Given the description of an element on the screen output the (x, y) to click on. 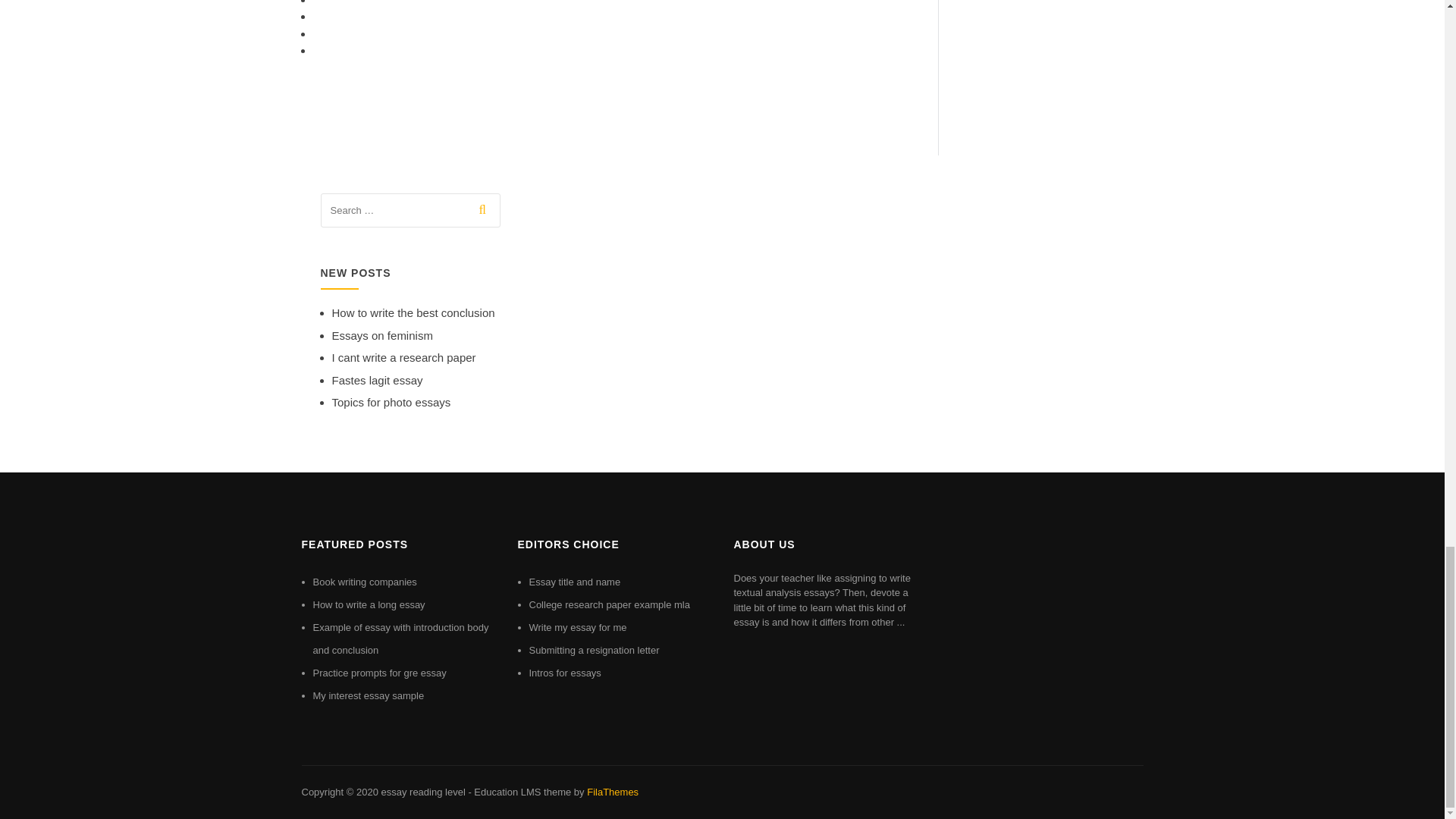
essay reading level (422, 791)
Topics for photo essays (391, 401)
My interest essay sample (368, 695)
I cant write a research paper (403, 357)
How to write the best conclusion (413, 312)
Write my essay for me (578, 627)
Intros for essays (565, 672)
Essays on feminism (381, 335)
College research paper example mla (609, 604)
How to write a long essay (369, 604)
Book writing companies (364, 582)
Essay title and name (575, 582)
Practice prompts for gre essay (379, 672)
Submitting a resignation letter (594, 650)
Fastes lagit essay (377, 379)
